Given the description of an element on the screen output the (x, y) to click on. 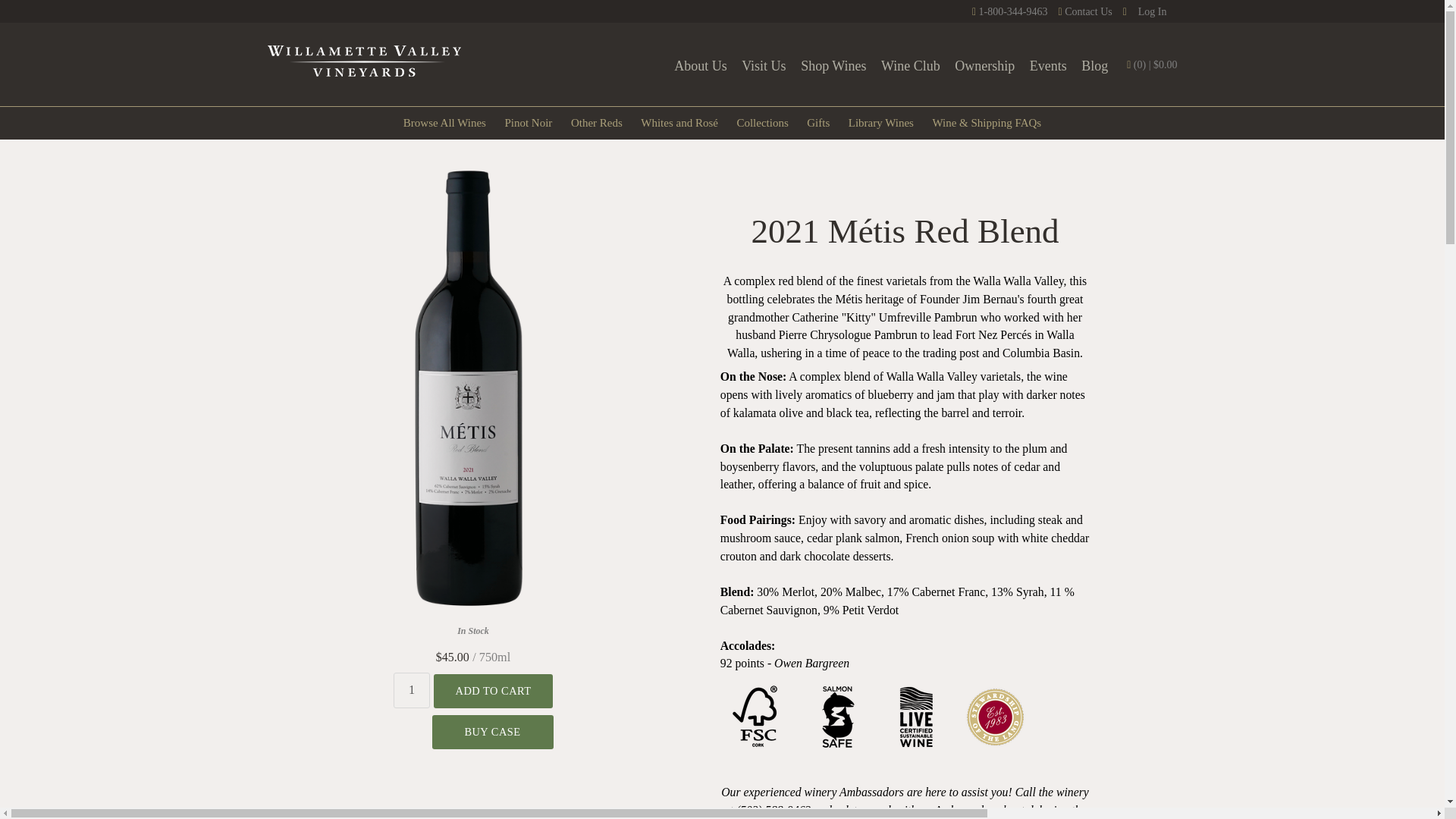
1-800-344-9463 (1010, 11)
1 (411, 690)
LIVE (915, 749)
Willamette Valley Vineyards (363, 61)
Log In (1144, 11)
FSC (758, 749)
Salmon-Safe (837, 749)
Stewardship-of-the-Land (994, 749)
 Contact Us (1085, 11)
